Given the description of an element on the screen output the (x, y) to click on. 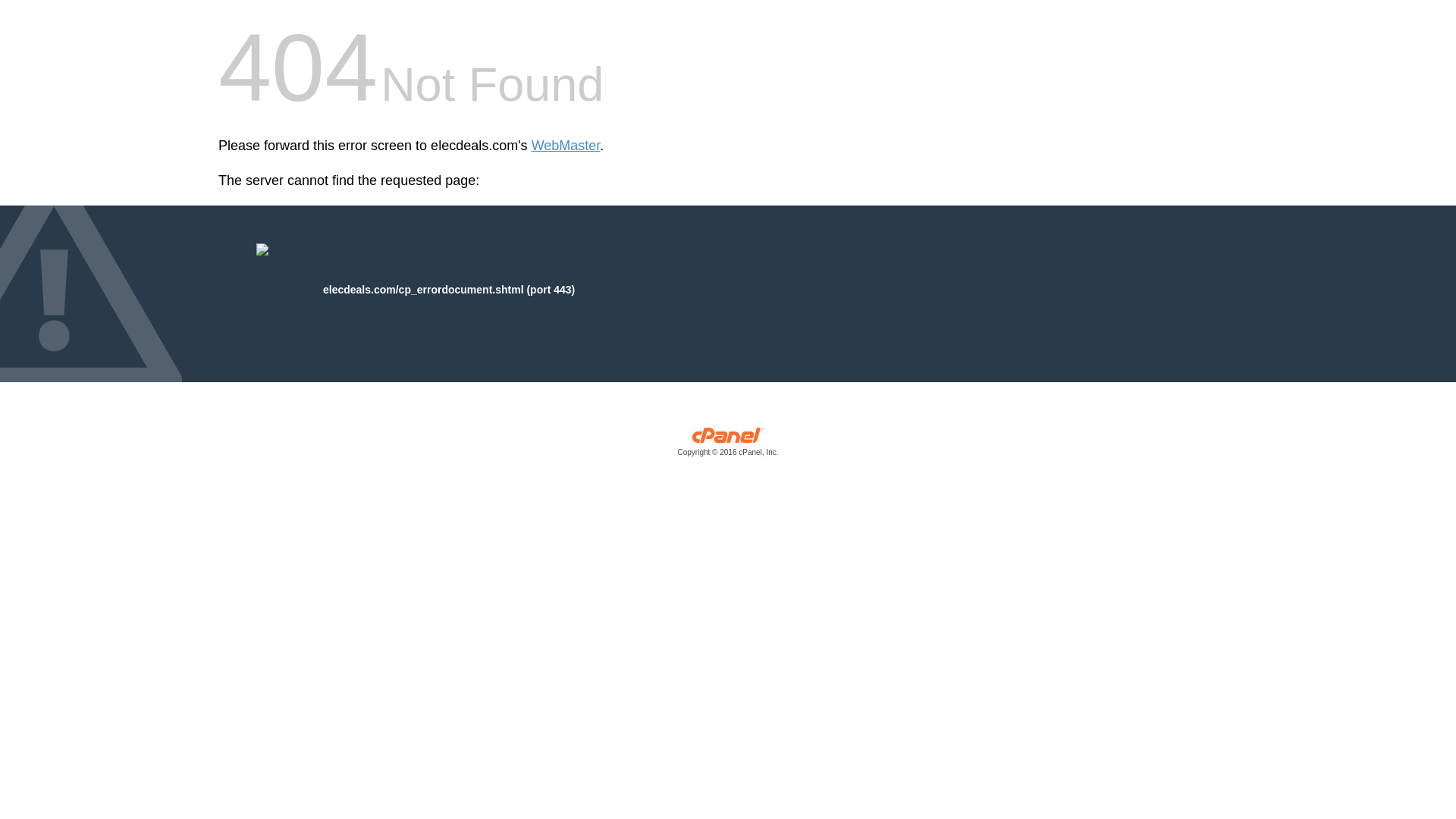
WebMaster (565, 145)
cPanel, Inc. (727, 445)
